Given the description of an element on the screen output the (x, y) to click on. 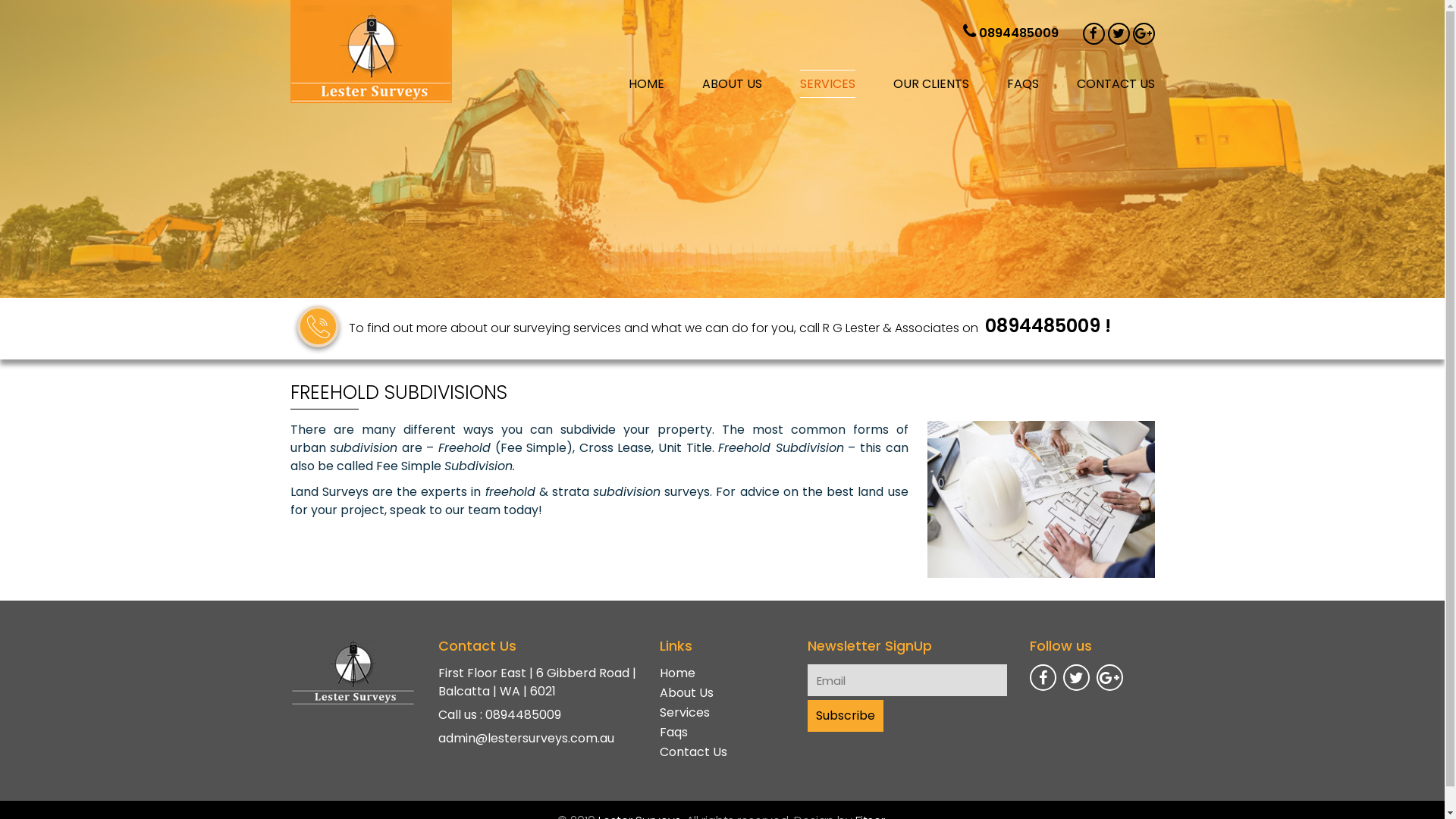
SERVICES Element type: text (826, 83)
0894485009 Element type: text (1017, 32)
HOME Element type: text (645, 83)
FAQS Element type: text (1022, 83)
Faqs Element type: text (673, 731)
admin@lestersurveys.com.au Element type: text (526, 737)
0894485009 Element type: text (523, 714)
Subscribe Element type: text (845, 715)
CONTACT US Element type: text (1115, 83)
OUR CLIENTS Element type: text (931, 83)
Home Element type: text (677, 672)
ABOUT US Element type: text (732, 83)
About Us Element type: text (686, 692)
Contact Us Element type: text (693, 751)
Services Element type: text (684, 712)
0894485009 ! Element type: text (1045, 325)
